Given the description of an element on the screen output the (x, y) to click on. 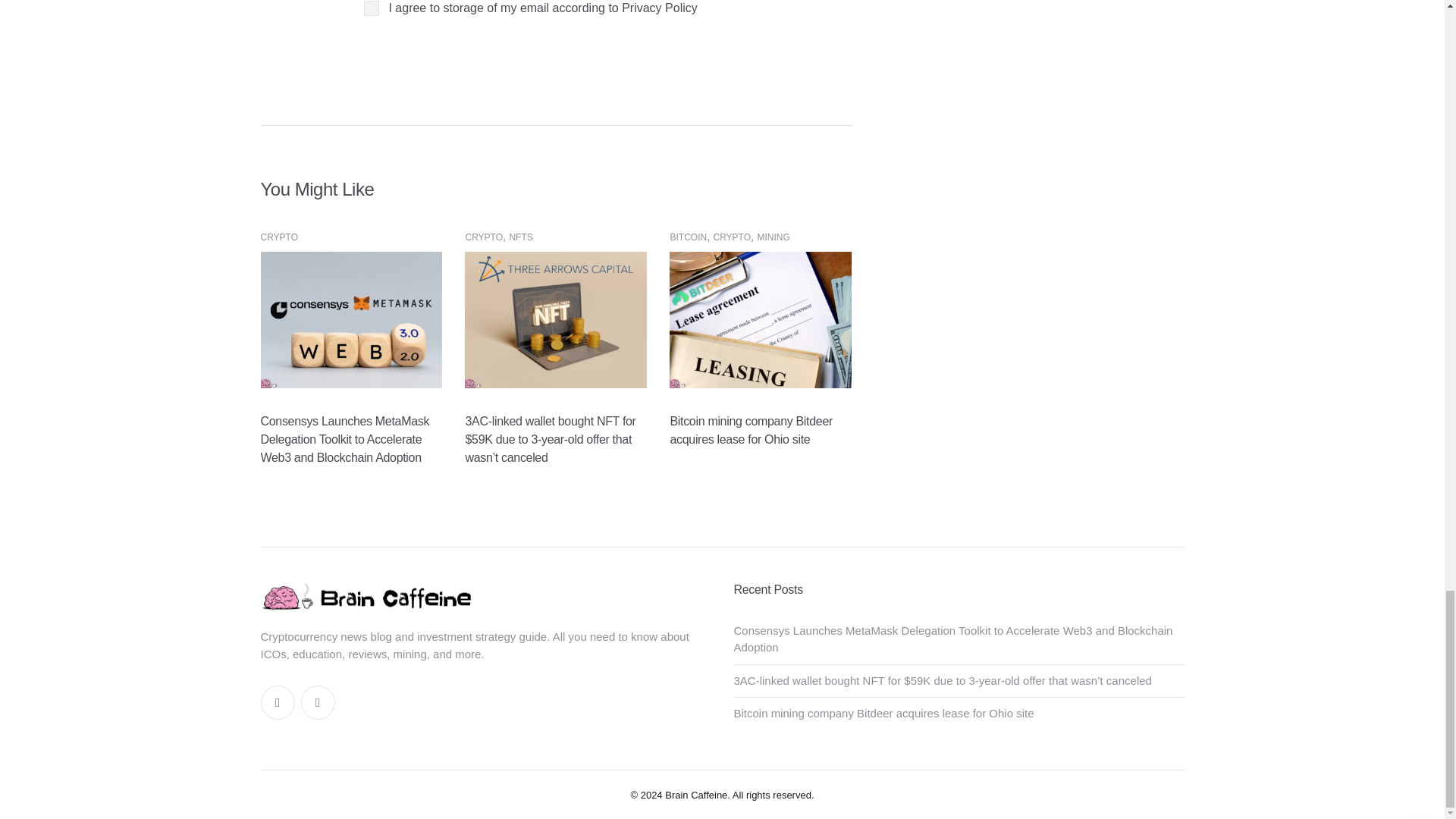
Bitcoin mining company Bitdeer acquires lease for Ohio site (760, 318)
Instagram (316, 702)
1 (371, 7)
Twitter (277, 702)
